Given the description of an element on the screen output the (x, y) to click on. 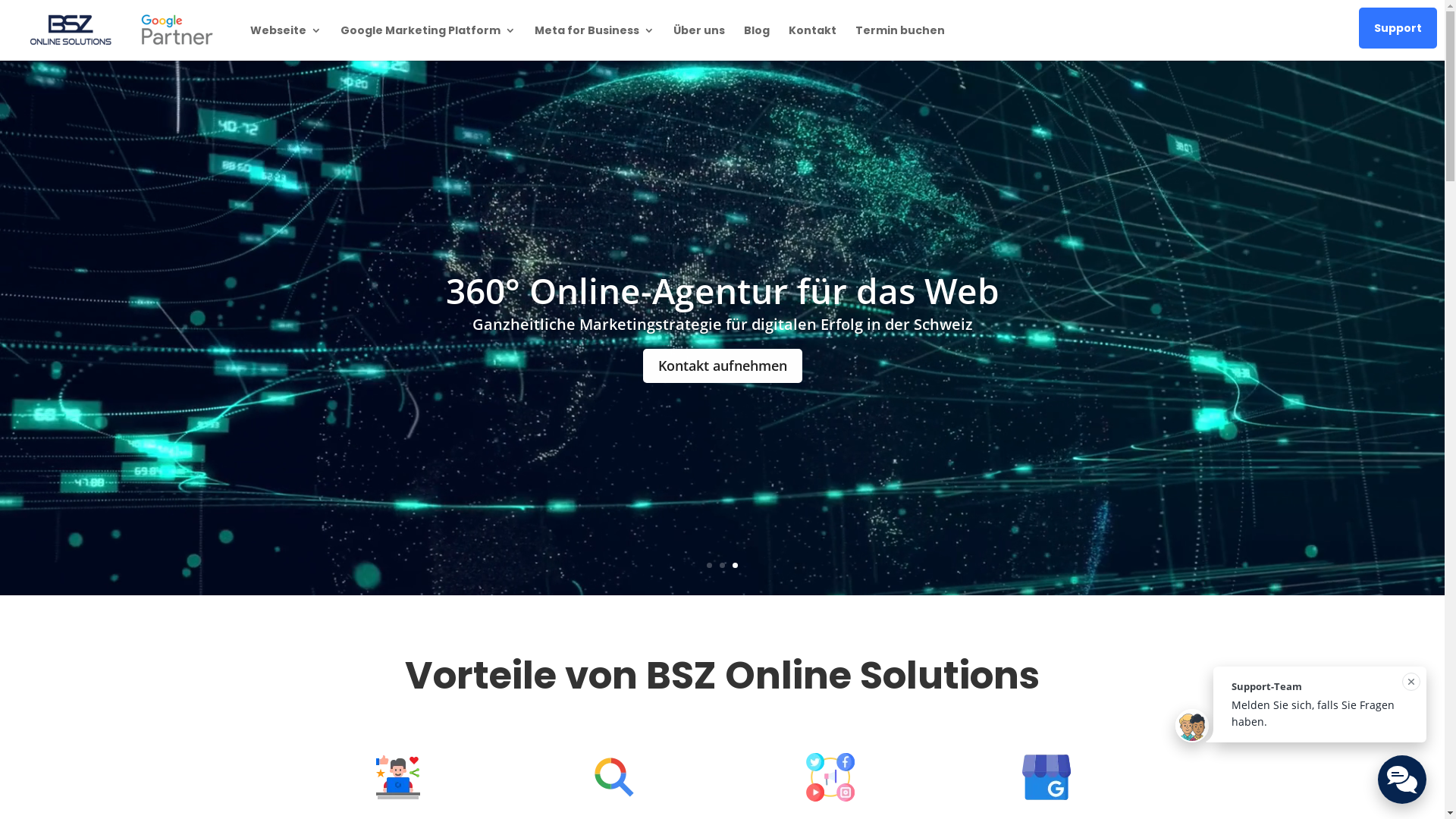
Zum Angebot Element type: text (722, 365)
icon_suchen_bsz_online_solutions Element type: hover (613, 777)
Message bubble Element type: hover (1300, 710)
1 Element type: text (709, 564)
Messenger button Element type: hover (1401, 779)
Termin buchen Element type: text (899, 42)
Kontakt Element type: text (812, 42)
google_my_business_icon_bsz_online_solutions Element type: hover (1046, 777)
Meta for Business Element type: text (594, 42)
2 Element type: text (721, 564)
developer_bsz_online_solutions Element type: hover (397, 777)
social_media_icon_bsz_online_solutions Element type: hover (830, 777)
Support Element type: text (1397, 27)
3 Element type: text (734, 564)
Google Marketing Platform Element type: text (427, 42)
Wir zeigen wie es geht Element type: text (722, 289)
Blog Element type: text (756, 42)
Webseite Element type: text (285, 42)
